Given the description of an element on the screen output the (x, y) to click on. 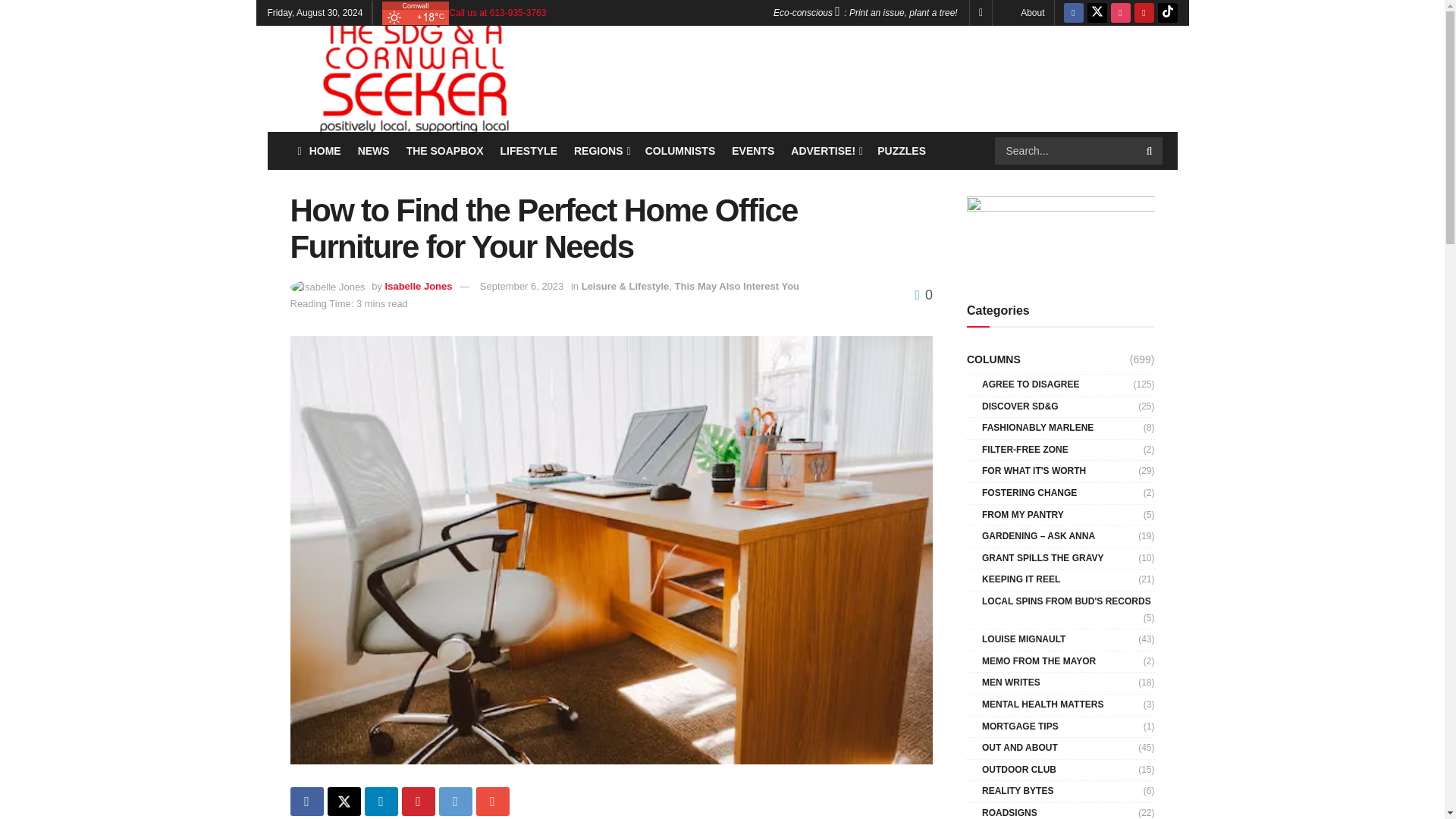
PUZZLES (901, 150)
EVENTS (753, 150)
REGIONS (600, 150)
NEWS (374, 150)
ADVERTISE! (825, 150)
LIFESTYLE (528, 150)
THE SOAPBOX (444, 150)
COLUMNISTS (680, 150)
Call us at 613-935-3763 (497, 12)
HOME (318, 150)
